Given the description of an element on the screen output the (x, y) to click on. 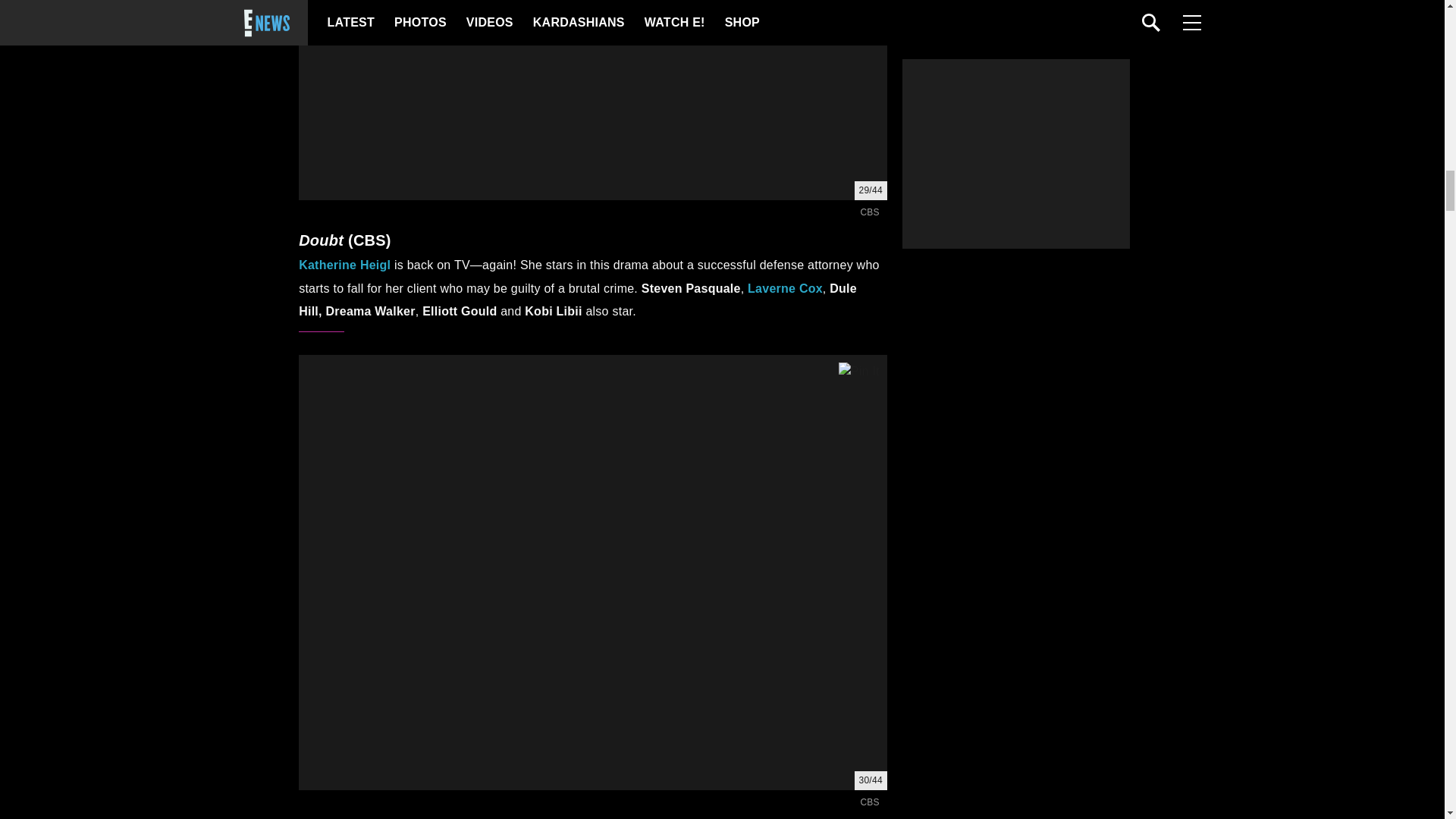
Katherine Heigl (344, 264)
Laverne Cox (785, 287)
